Given the description of an element on the screen output the (x, y) to click on. 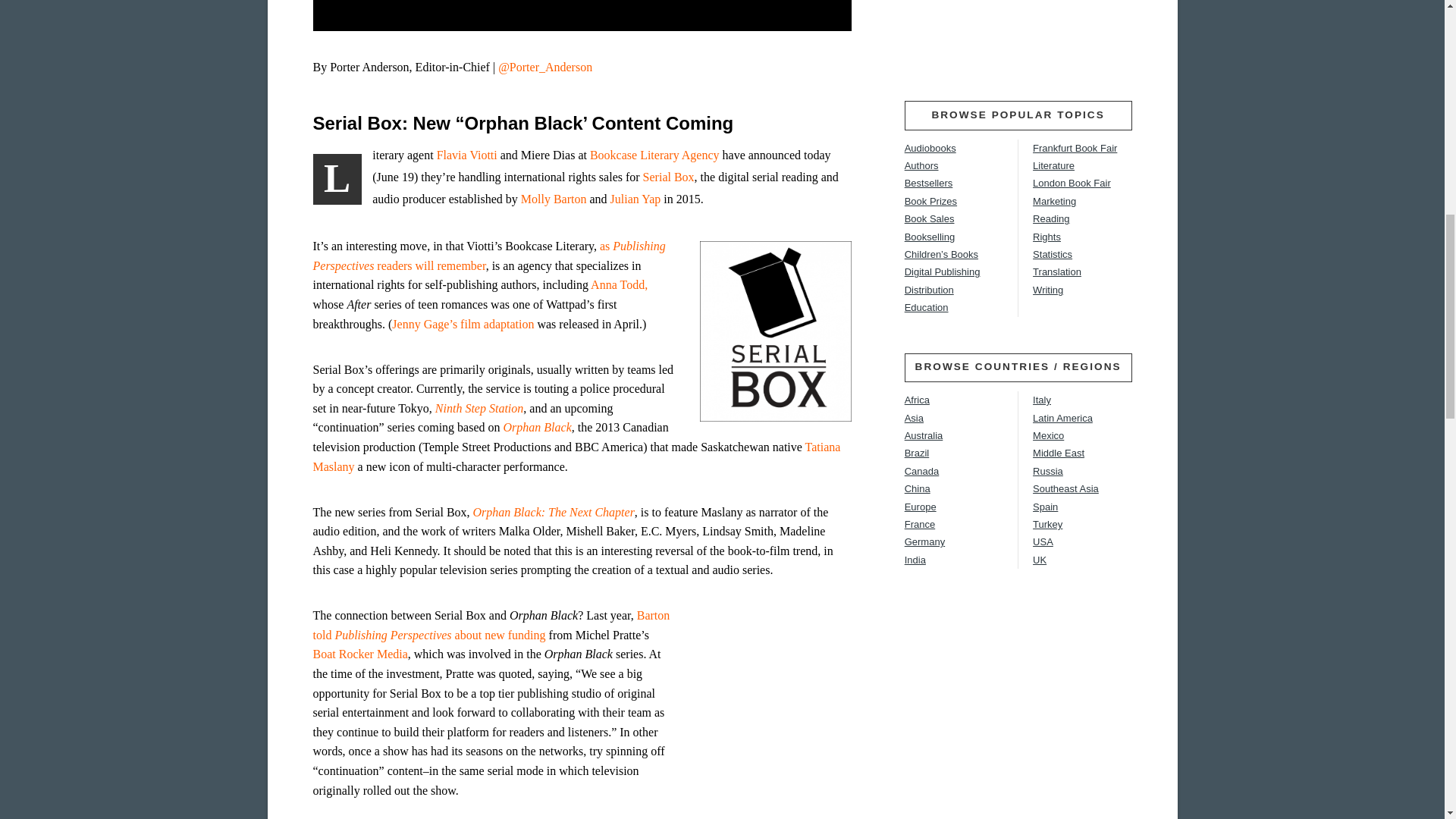
Serial Box (668, 176)
3rd party ad content (1018, 32)
Flavia Viotti (466, 154)
Molly Barton (553, 198)
as Publishing Perspectives readers will remember (489, 255)
Bookcase Literary Agency (654, 154)
Julian Yap (635, 198)
